Given the description of an element on the screen output the (x, y) to click on. 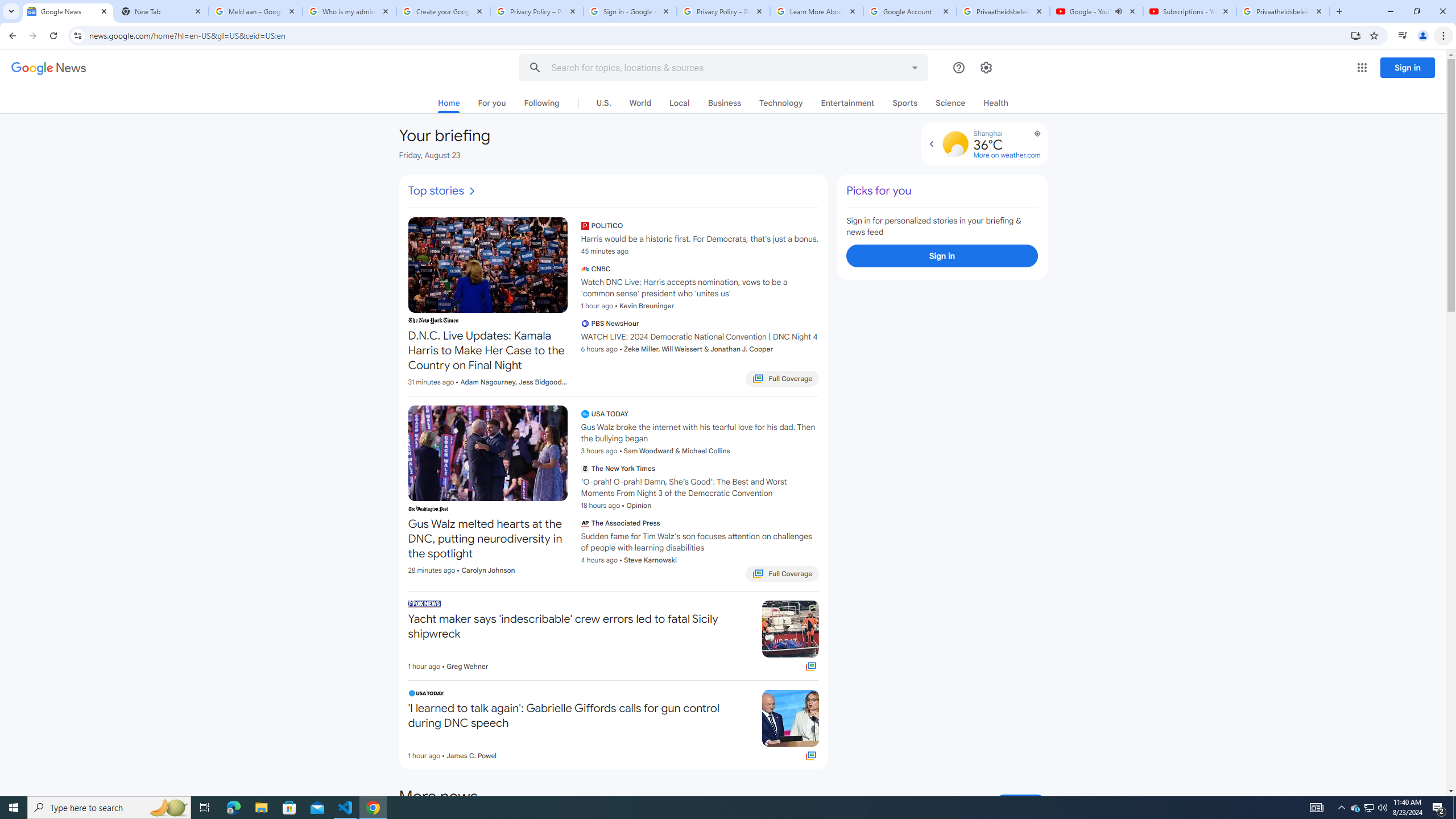
Top stories (442, 190)
Expand to view forecast (931, 143)
